Given the description of an element on the screen output the (x, y) to click on. 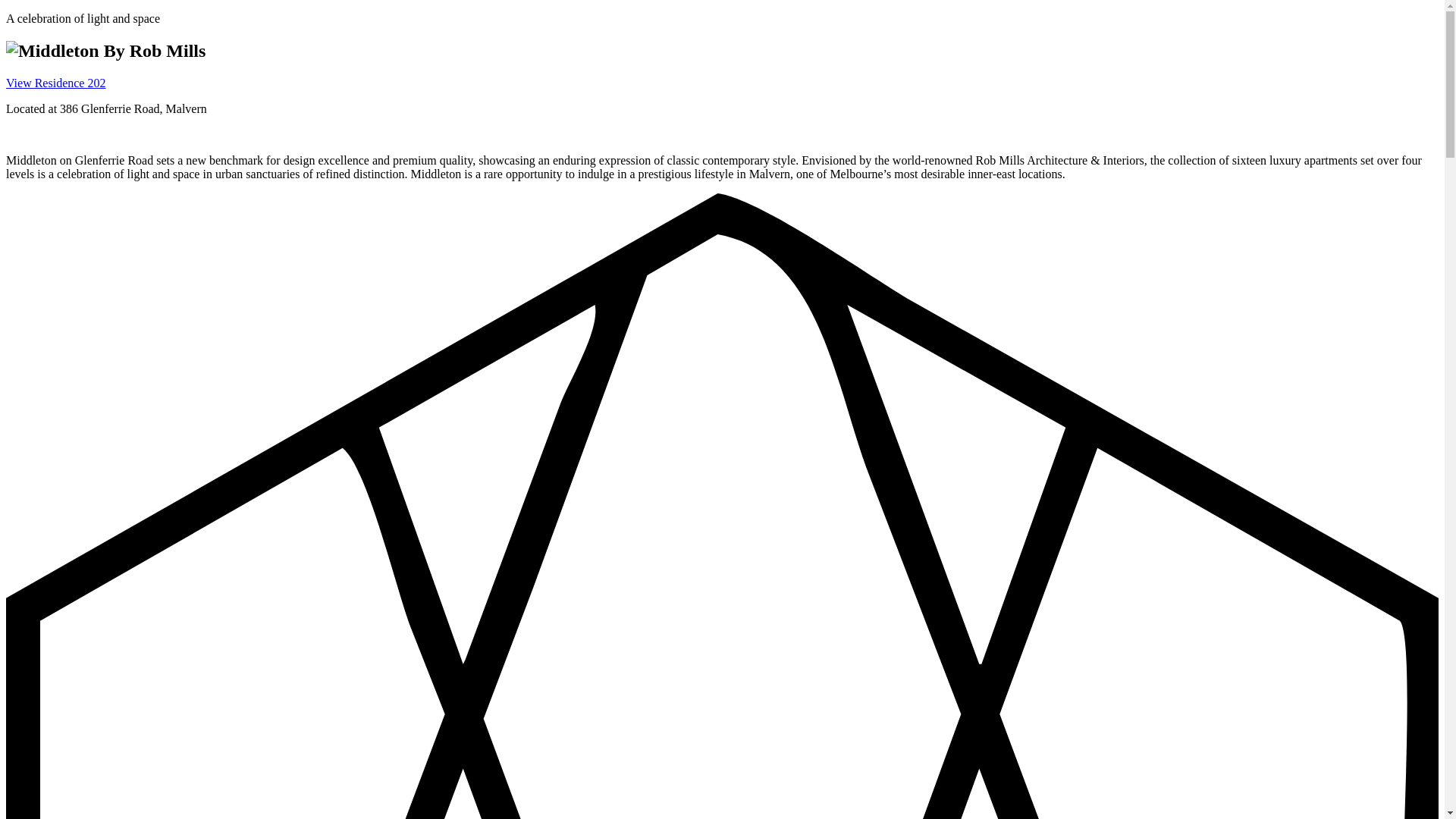
View Residence 202 Element type: text (55, 82)
